Given the description of an element on the screen output the (x, y) to click on. 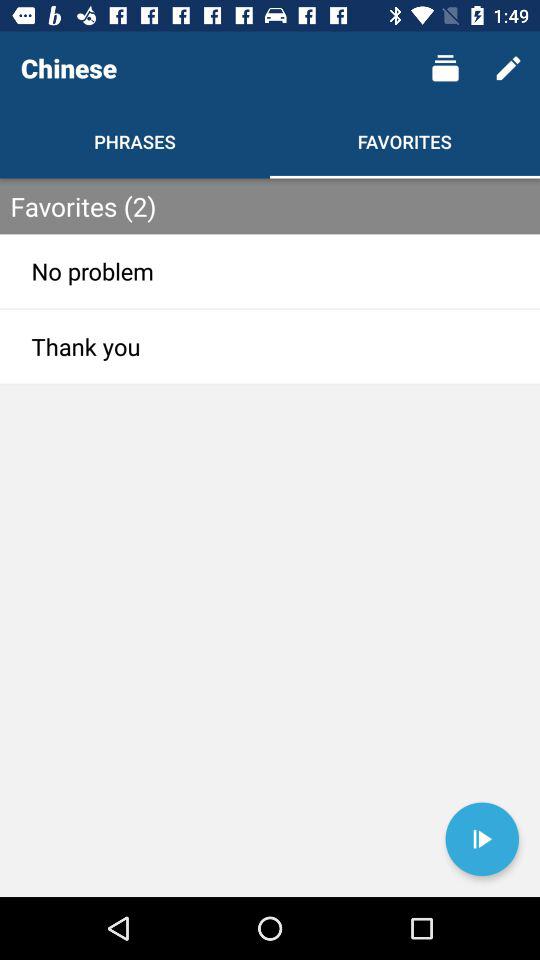
play the text (482, 839)
